Given the description of an element on the screen output the (x, y) to click on. 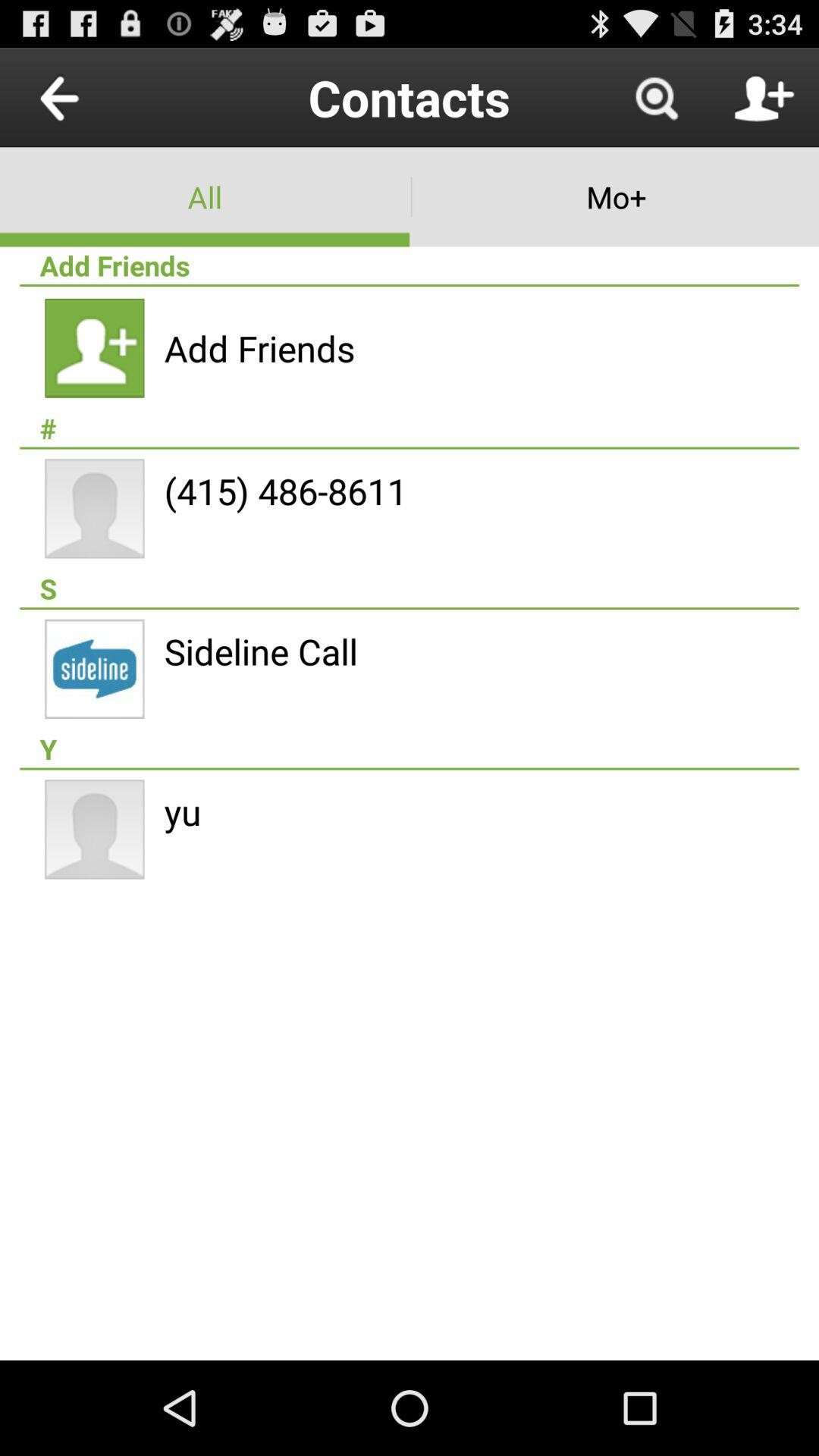
tap the app next to the mo+ icon (204, 196)
